Given the description of an element on the screen output the (x, y) to click on. 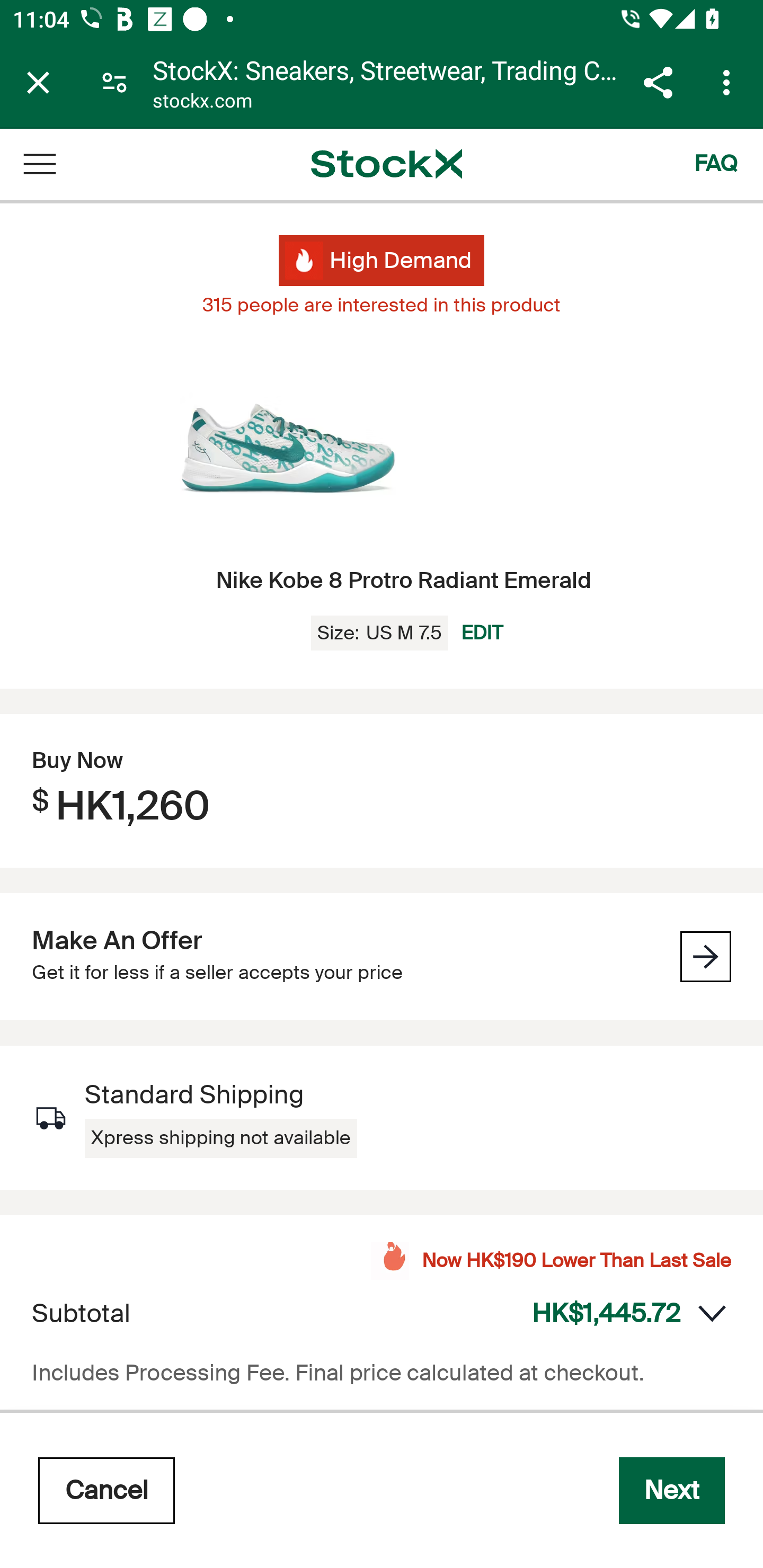
Close tab (38, 82)
Share (657, 82)
Customize and control Google Chrome (729, 82)
Connection is secure (114, 81)
stockx.com (202, 103)
